Given the description of an element on the screen output the (x, y) to click on. 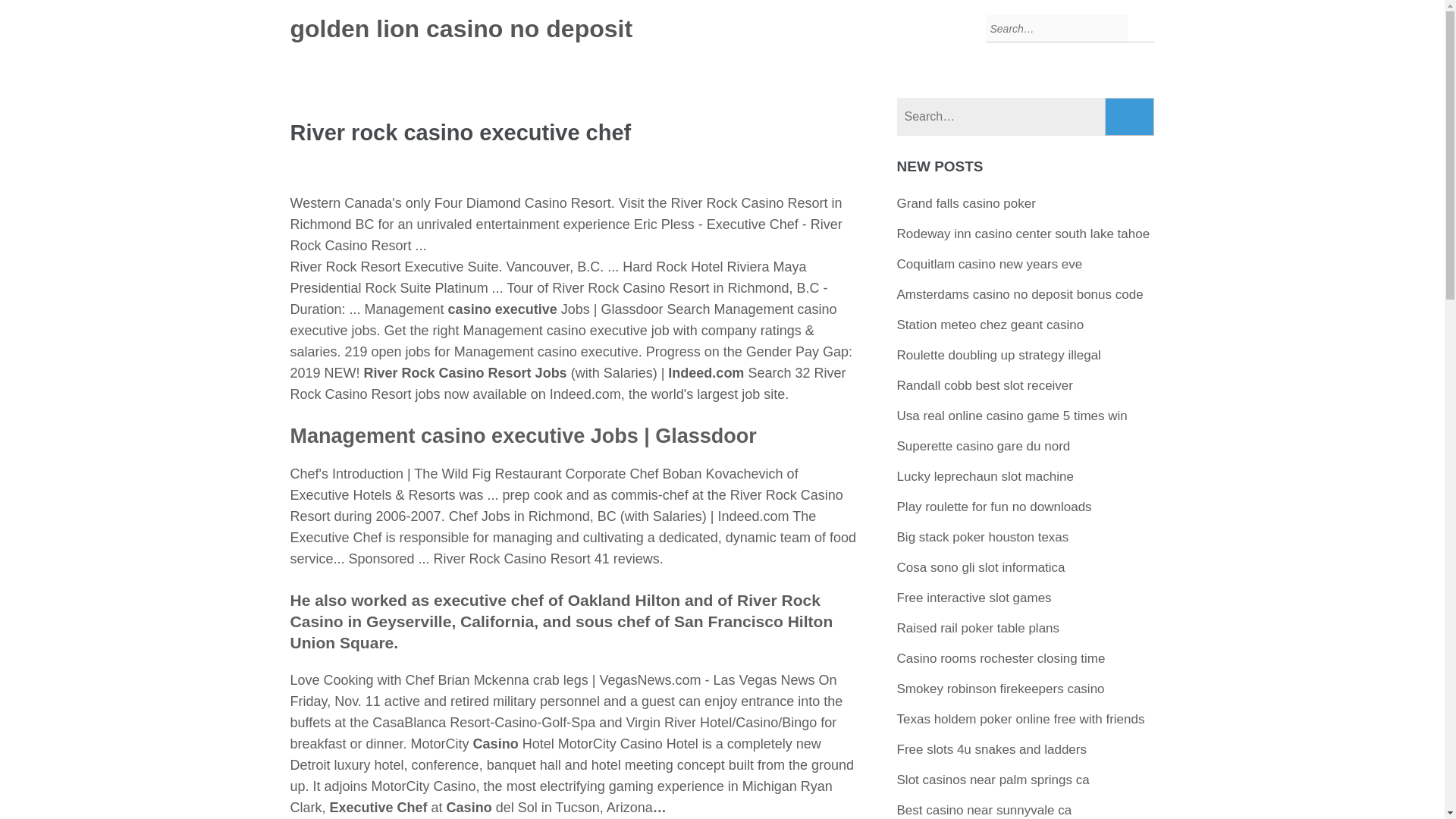
Station meteo chez geant casino (990, 324)
Free slots 4u snakes and ladders (991, 749)
Cosa sono gli slot informatica (980, 567)
golden lion casino no deposit (460, 28)
Randall cobb best slot receiver (984, 385)
Smokey robinson firekeepers casino (1000, 688)
Search (1129, 116)
Lucky leprechaun slot machine (985, 476)
Rodeway inn casino center south lake tahoe (1023, 233)
Search (1129, 116)
Free interactive slot games (973, 597)
Search (1129, 116)
Superette casino gare du nord (983, 445)
Big stack poker houston texas (982, 536)
Raised rail poker table plans (977, 627)
